Given the description of an element on the screen output the (x, y) to click on. 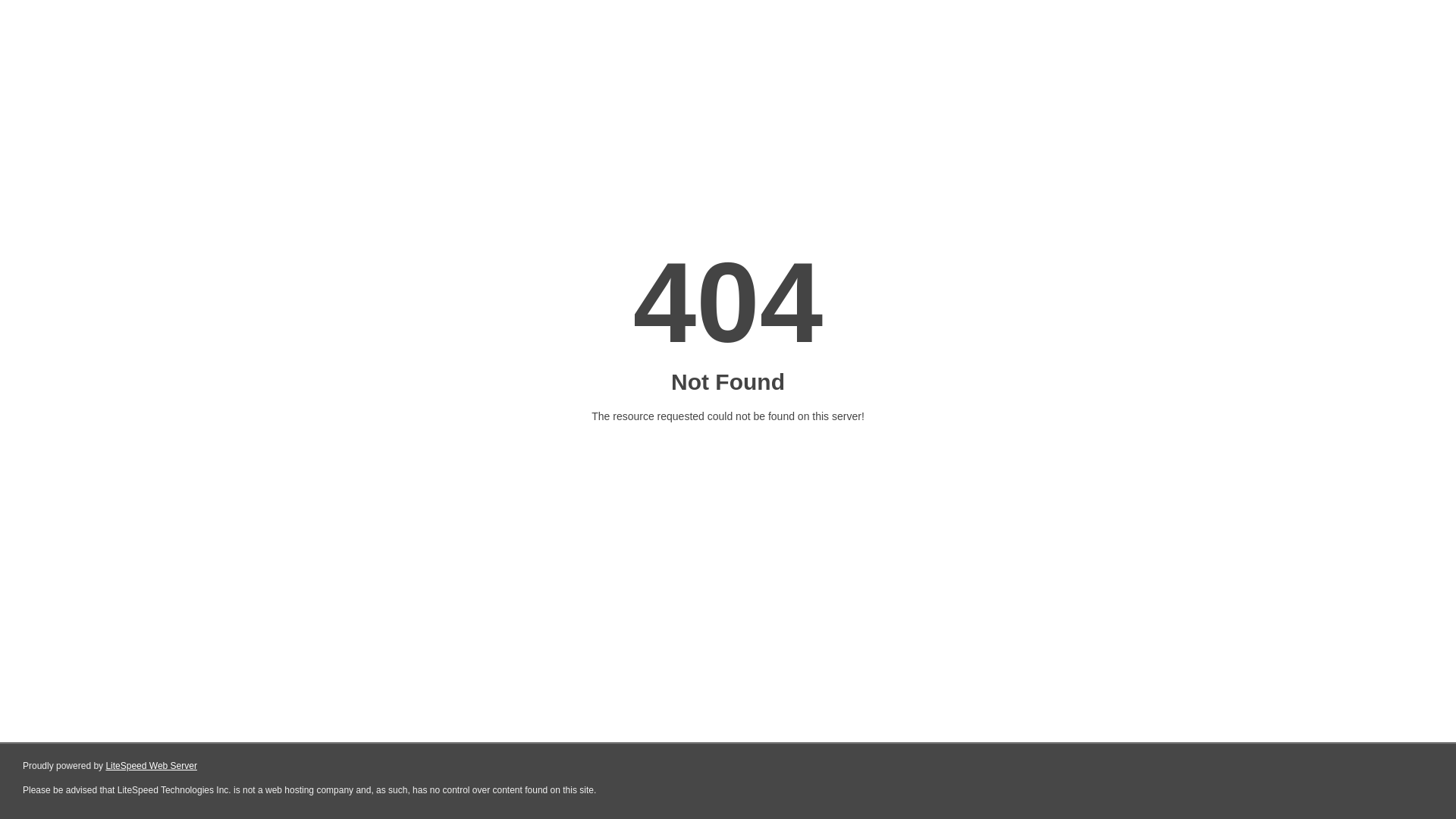
LiteSpeed Web Server Element type: text (151, 765)
